Given the description of an element on the screen output the (x, y) to click on. 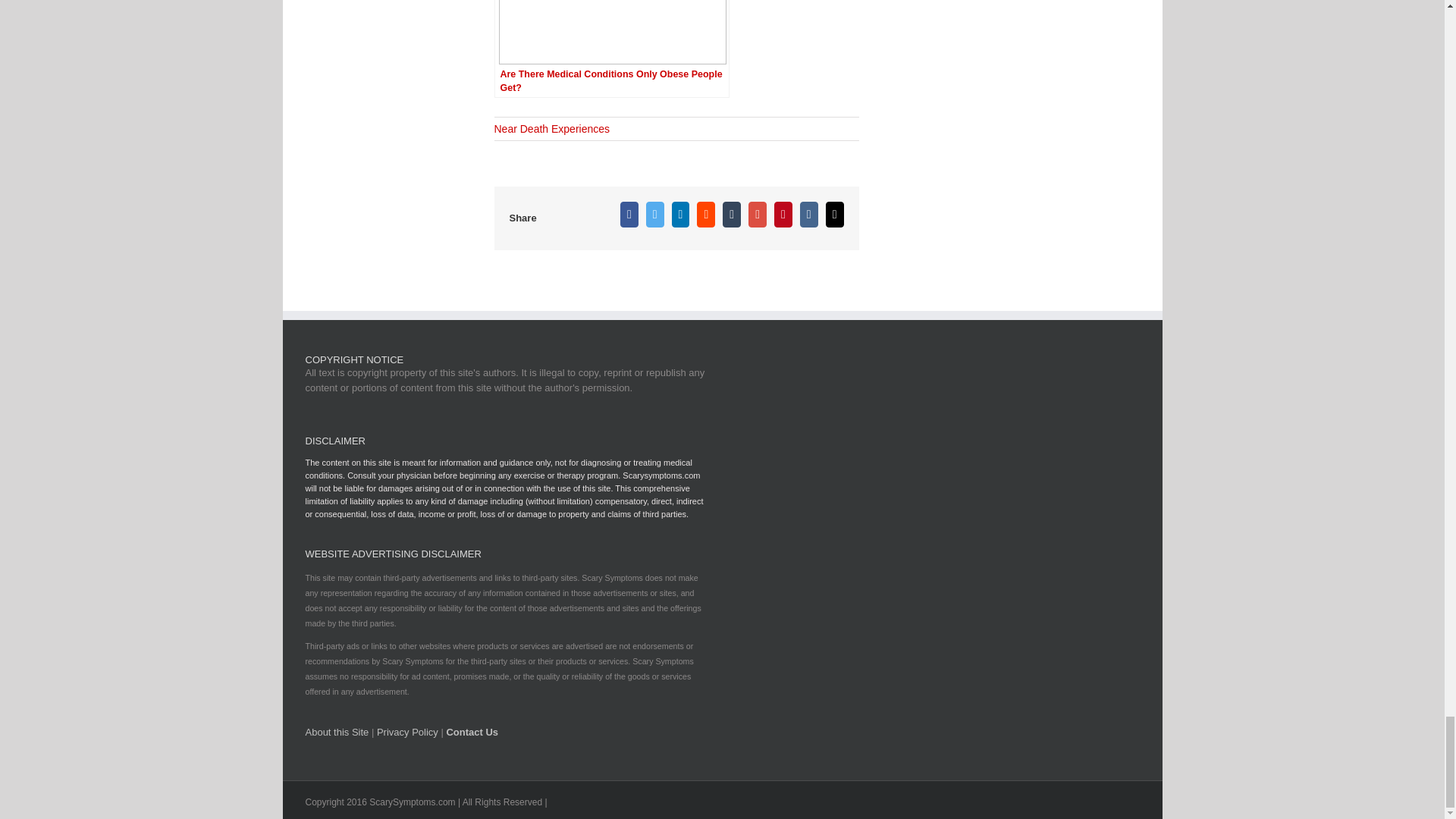
Are There Medical Conditions Only Obese People Get? (612, 48)
